Given the description of an element on the screen output the (x, y) to click on. 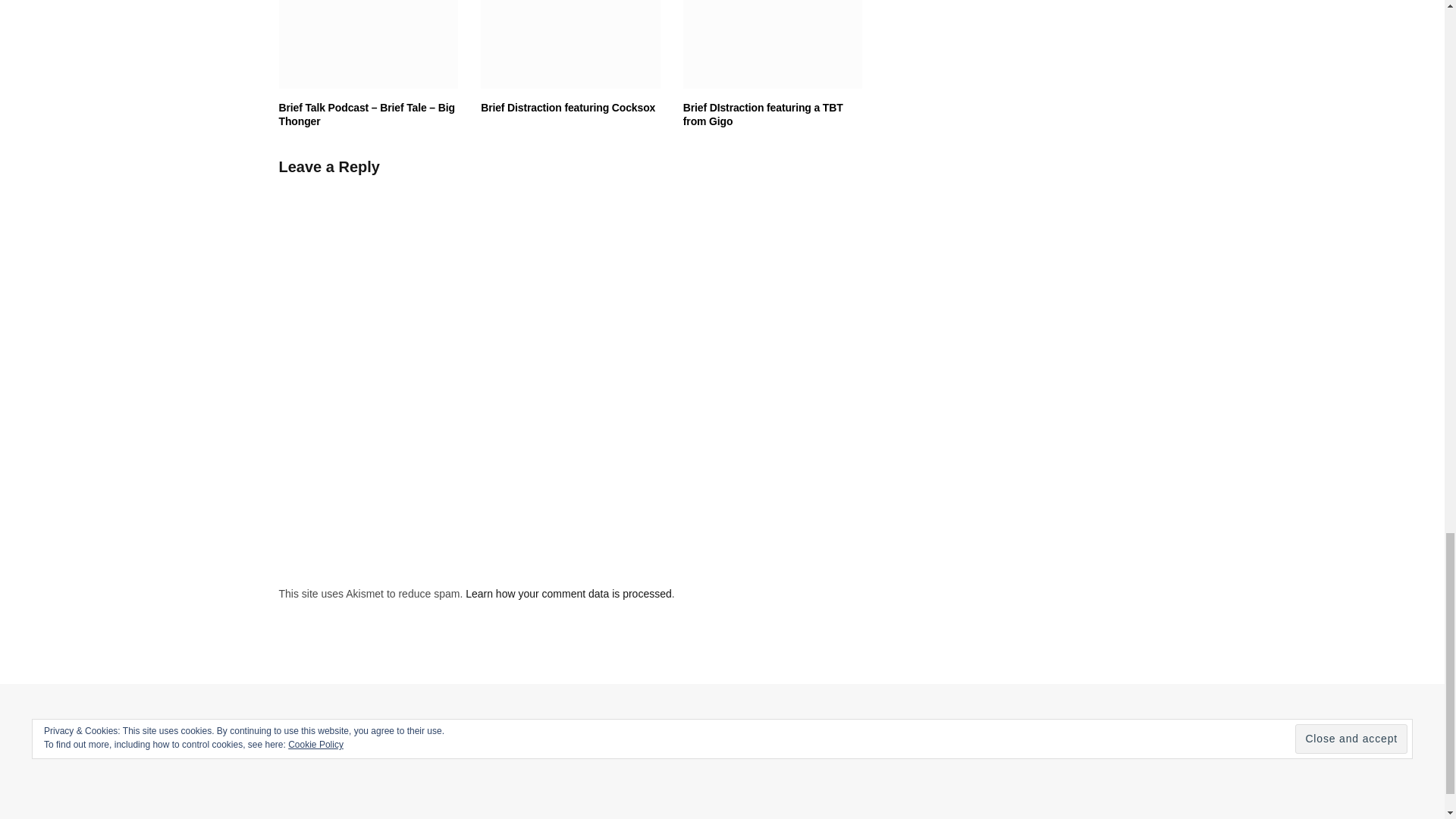
Brief Distraction featuring Cocksox (570, 44)
Brief DIstraction featuring a TBT from Gigo (772, 44)
